Given the description of an element on the screen output the (x, y) to click on. 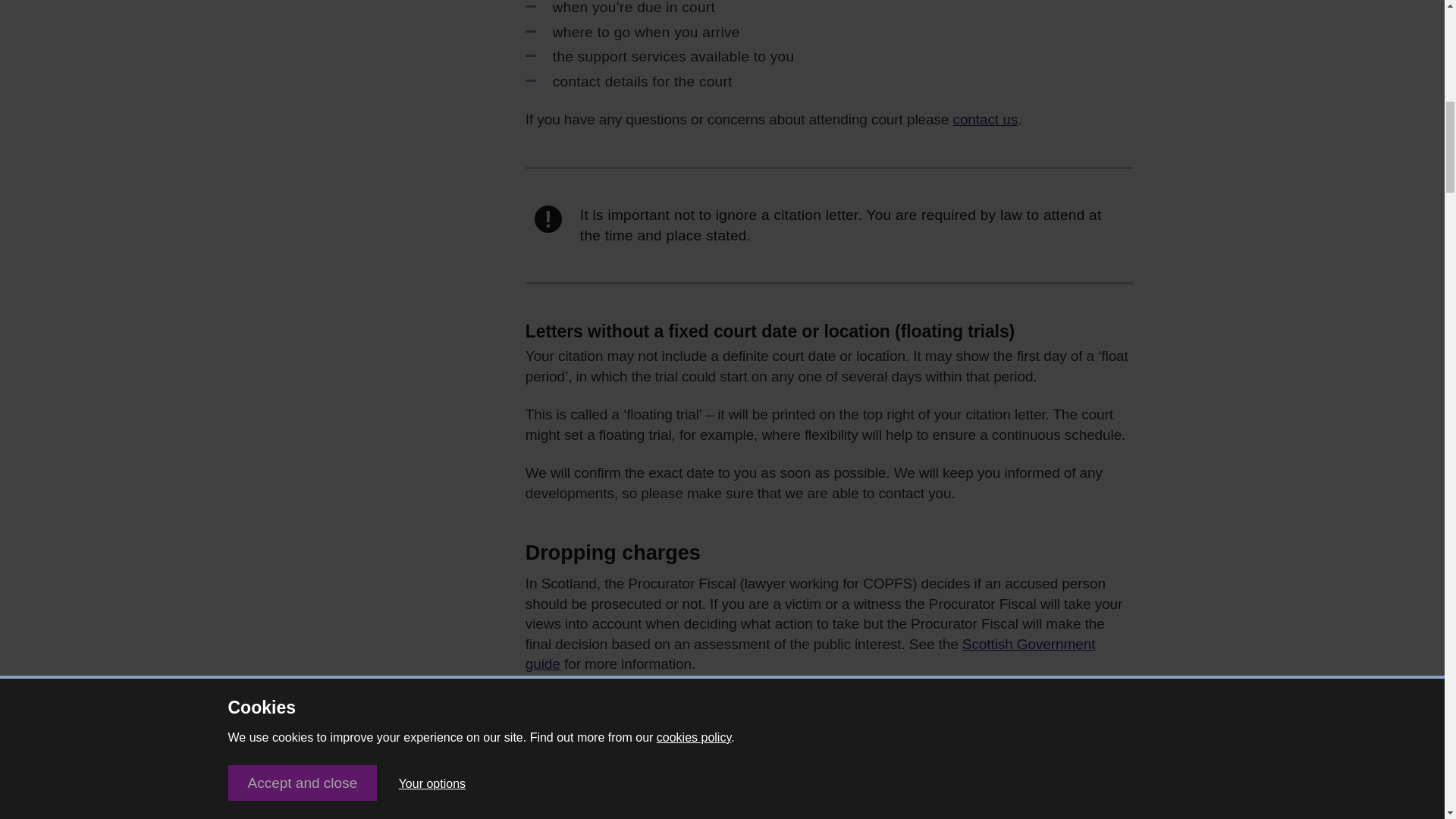
Sections in this page (350, 810)
Sections in this page (350, 810)
